Given the description of an element on the screen output the (x, y) to click on. 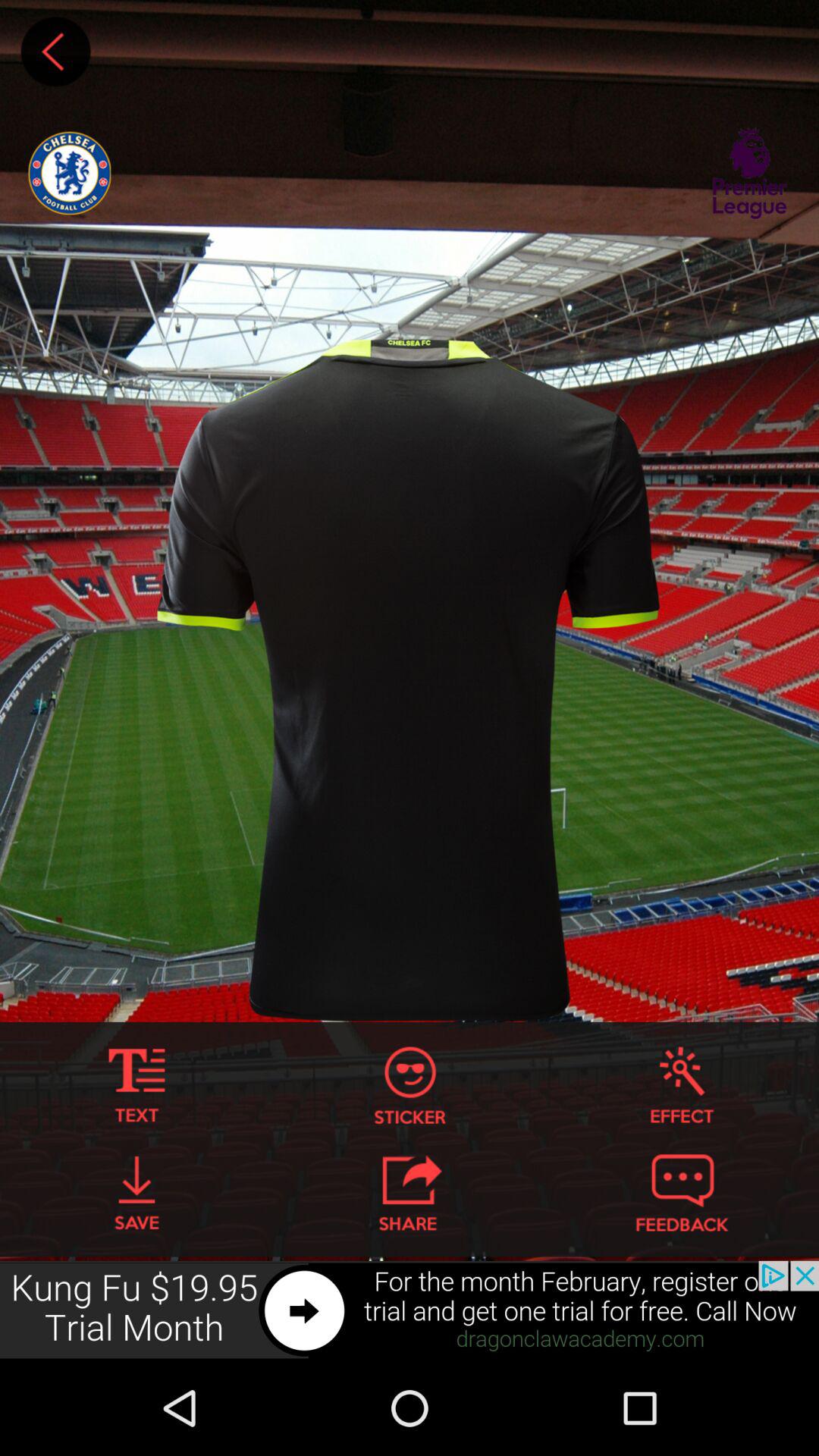
save and download option (136, 1193)
